Given the description of an element on the screen output the (x, y) to click on. 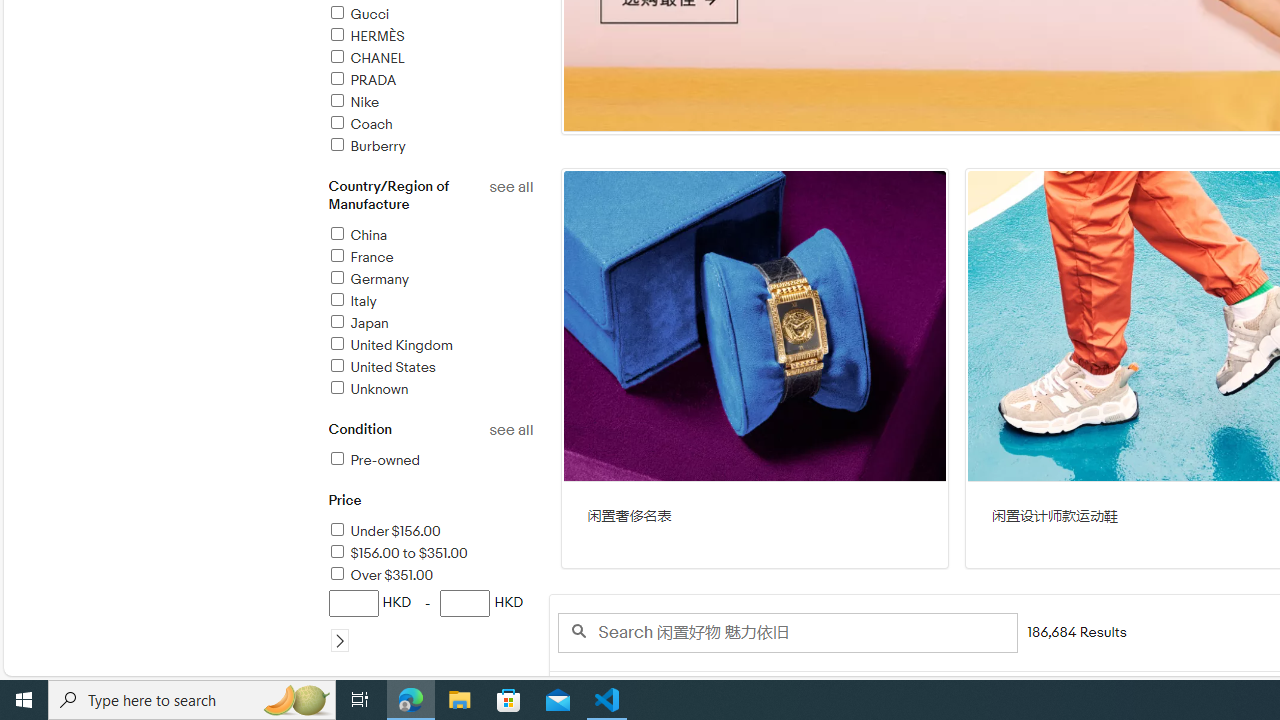
Pre-owned (373, 460)
United States (430, 368)
Submit price range (339, 640)
Pre-owned (430, 461)
China (430, 236)
CHANEL (365, 57)
Minimum Value (352, 603)
Under $156.00 (430, 532)
$156.00 to $351.00 (430, 554)
Coach (359, 124)
Nike (430, 103)
CHANEL (430, 59)
Gucci (358, 14)
HKD-HKD (430, 619)
